Given the description of an element on the screen output the (x, y) to click on. 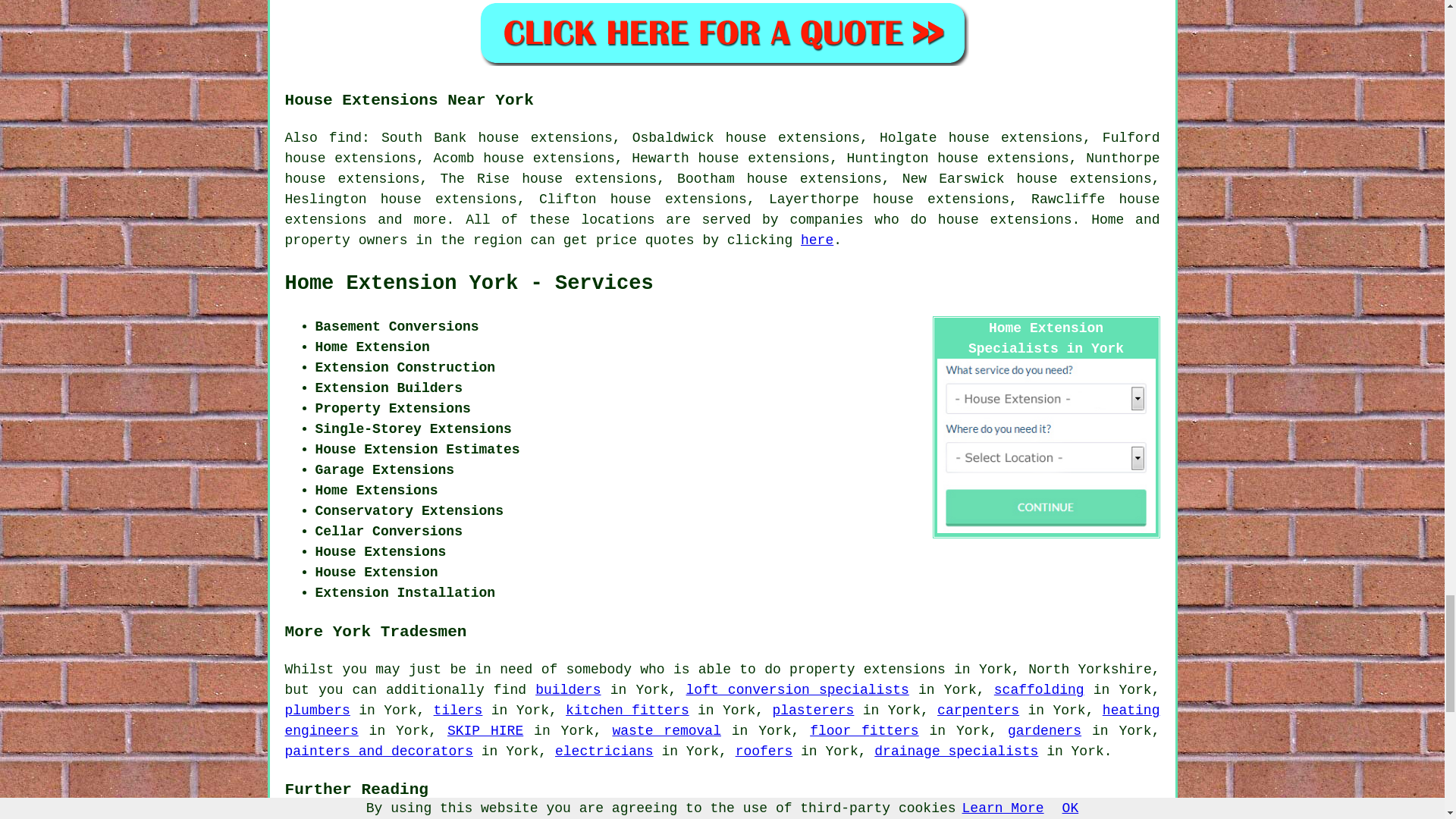
Home Extension York (469, 282)
